Given the description of an element on the screen output the (x, y) to click on. 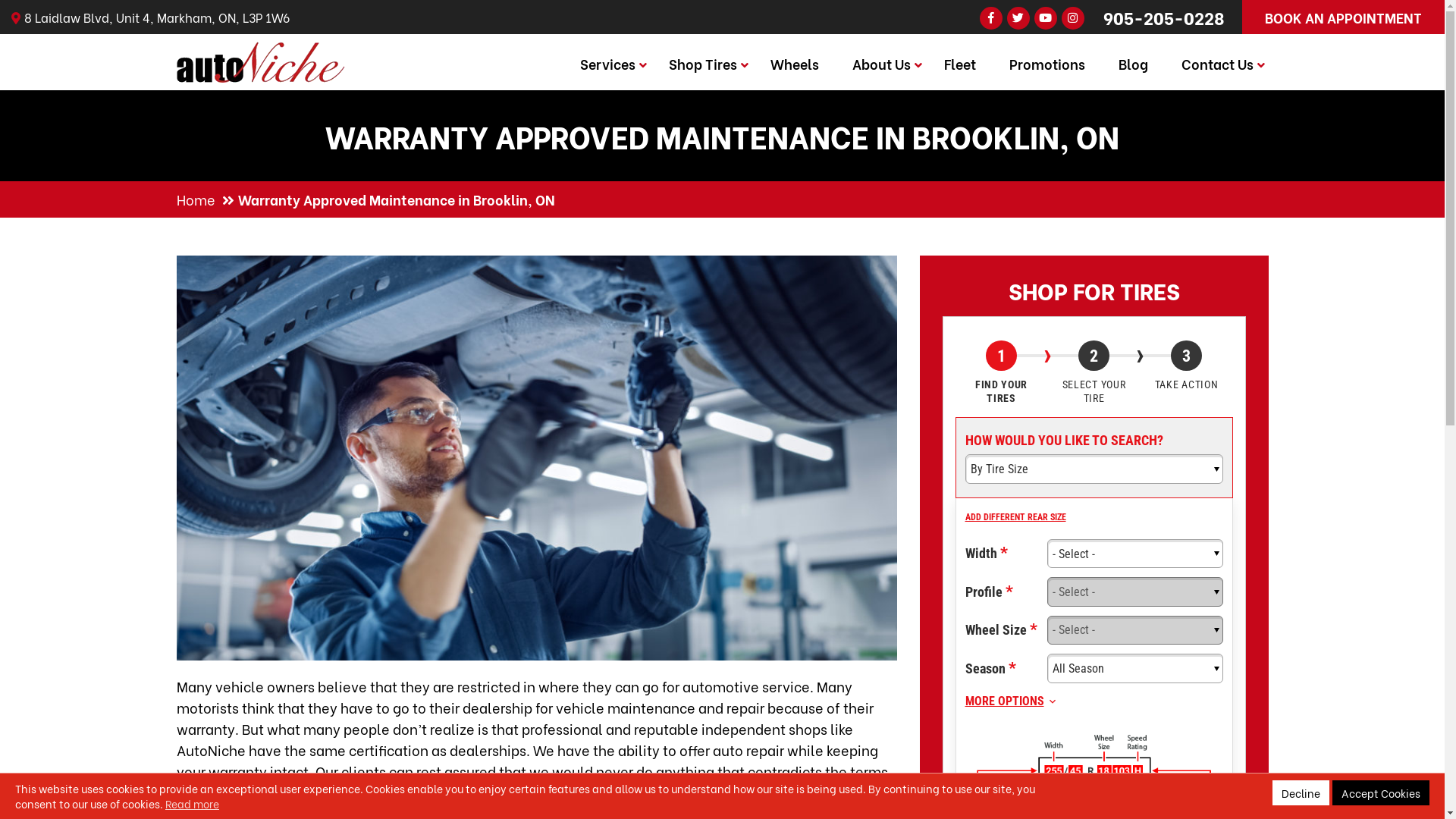
About Us Element type: text (881, 63)
Home Element type: text (194, 198)
ADD DIFFERENT REAR SIZE Element type: text (1014, 516)
Promotions Element type: text (1046, 63)
Fleet Element type: text (959, 63)
Decline Element type: text (1300, 792)
Shop Tires Element type: text (702, 63)
Wheels Element type: text (794, 63)
AutoNiche Element type: hover (259, 51)
Services Element type: text (606, 63)
Accept Cookies Element type: text (1380, 792)
Contact Us Element type: text (1217, 63)
Blog Element type: text (1132, 63)
Read more Element type: text (192, 803)
BOOK AN APPOINTMENT Element type: text (1343, 17)
905-205-0228 Element type: text (1163, 16)
